Given the description of an element on the screen output the (x, y) to click on. 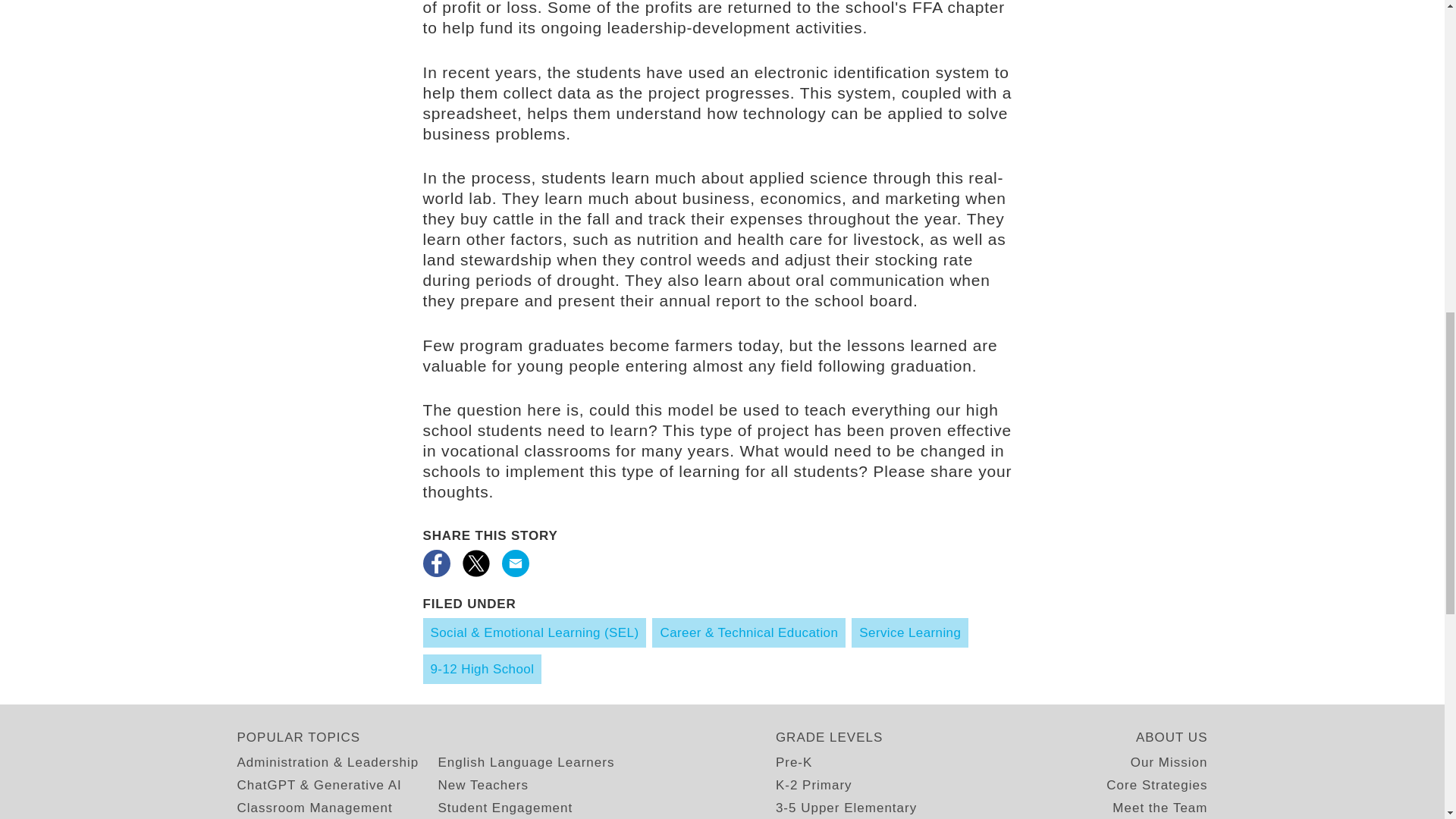
9-12 High School (482, 668)
Classroom Management (313, 807)
English Language Learners (526, 762)
New Teachers (483, 784)
Student Engagement (505, 807)
Service Learning (909, 632)
